Given the description of an element on the screen output the (x, y) to click on. 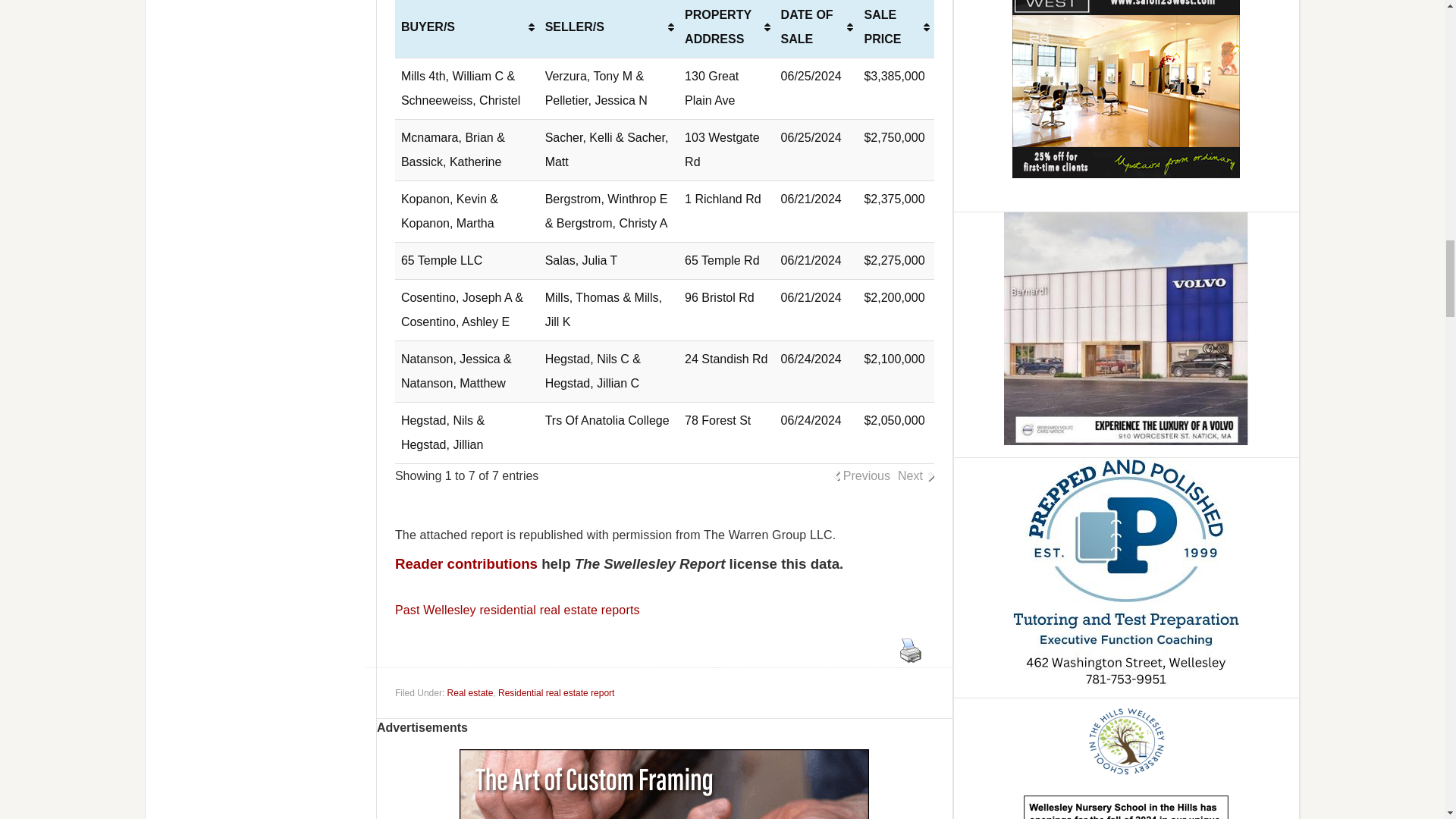
Print Content (910, 650)
